Given the description of an element on the screen output the (x, y) to click on. 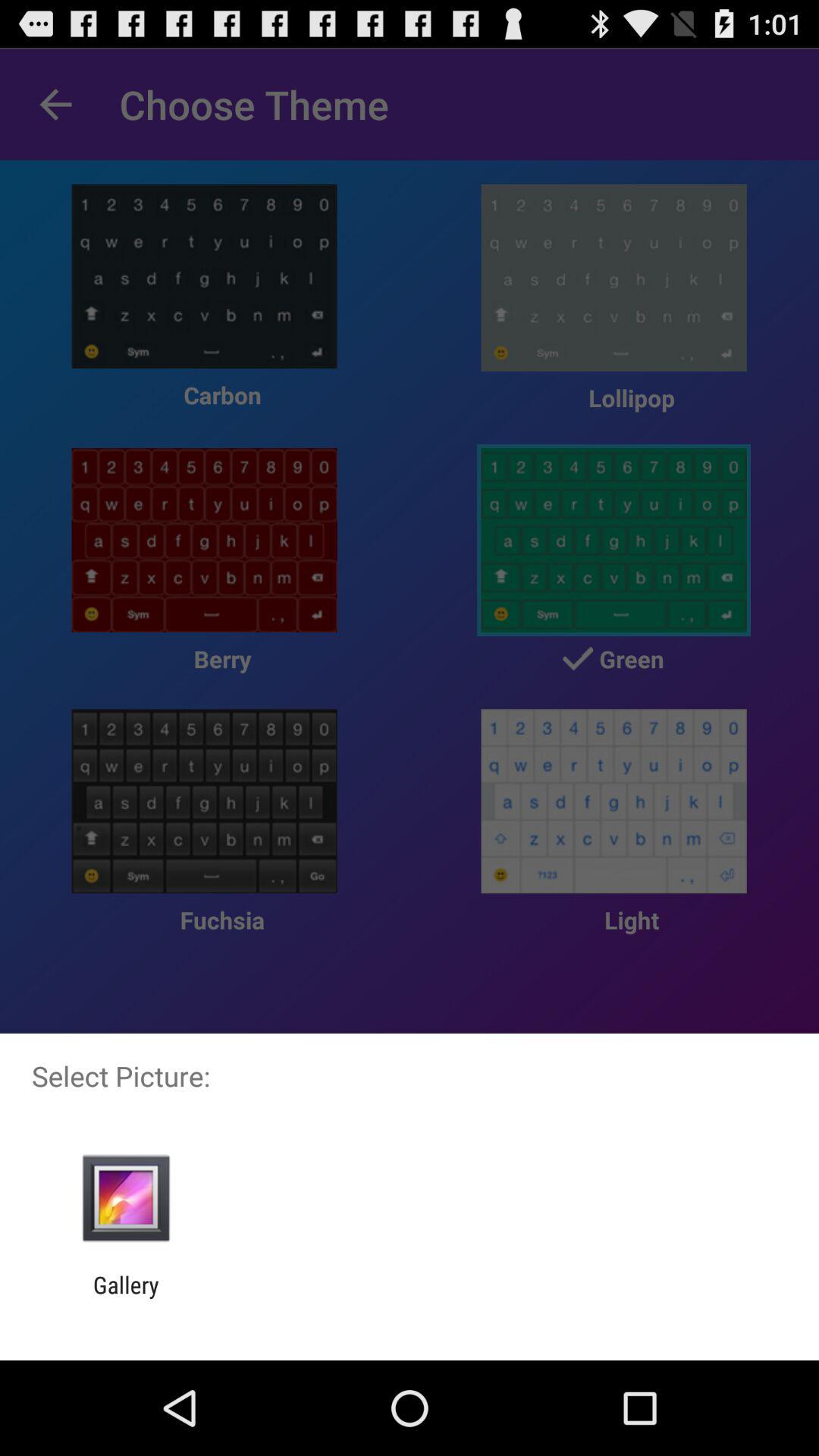
scroll to gallery item (126, 1298)
